Given the description of an element on the screen output the (x, y) to click on. 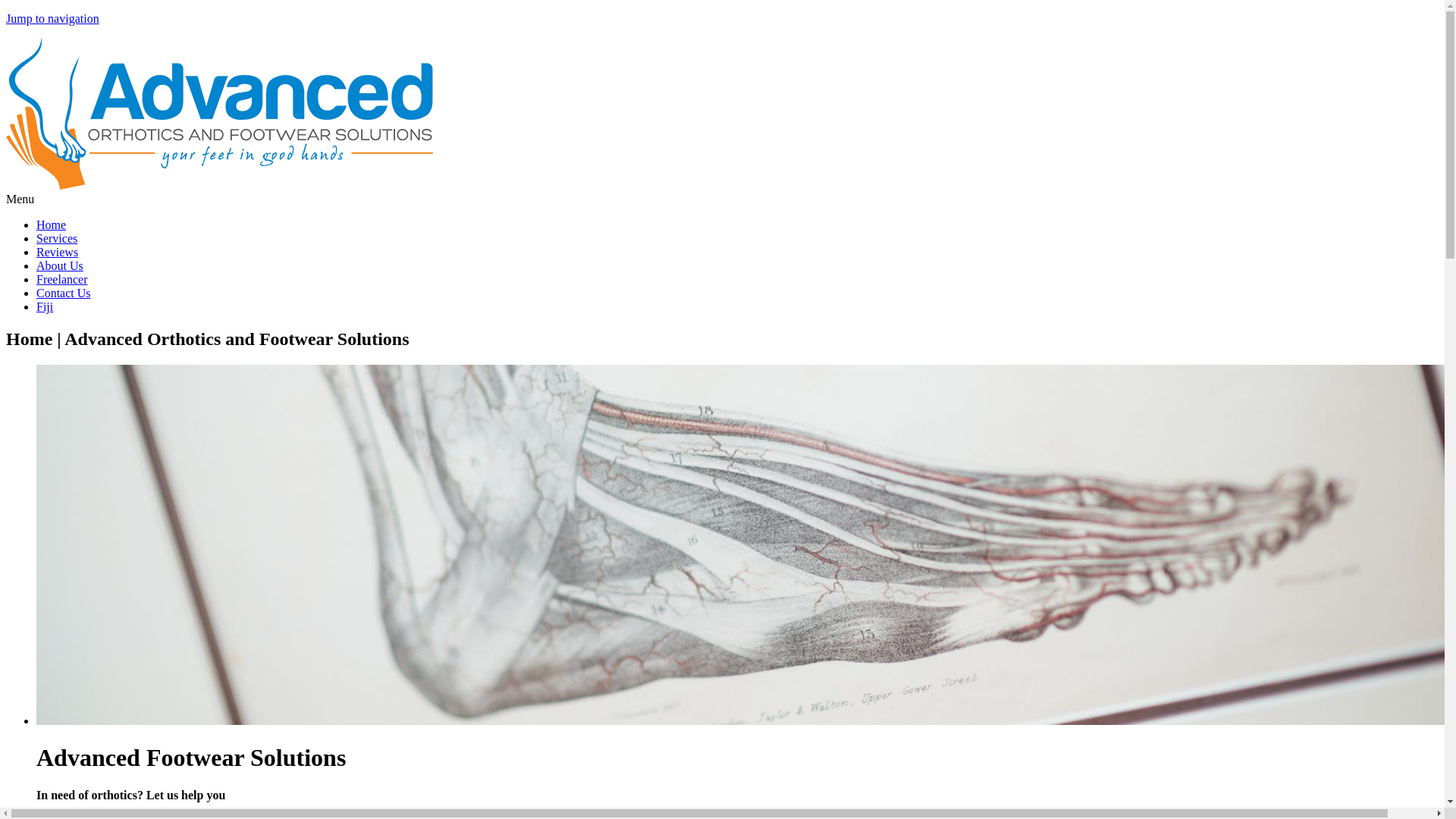
Freelancer Element type: text (61, 279)
Reviews Element type: text (57, 251)
Home Element type: hover (219, 184)
Fiji Element type: text (44, 306)
Jump to navigation Element type: text (52, 18)
Home Element type: text (50, 224)
Contact Us Element type: text (63, 292)
About Us Element type: text (59, 265)
Services Element type: text (56, 238)
